Given the description of an element on the screen output the (x, y) to click on. 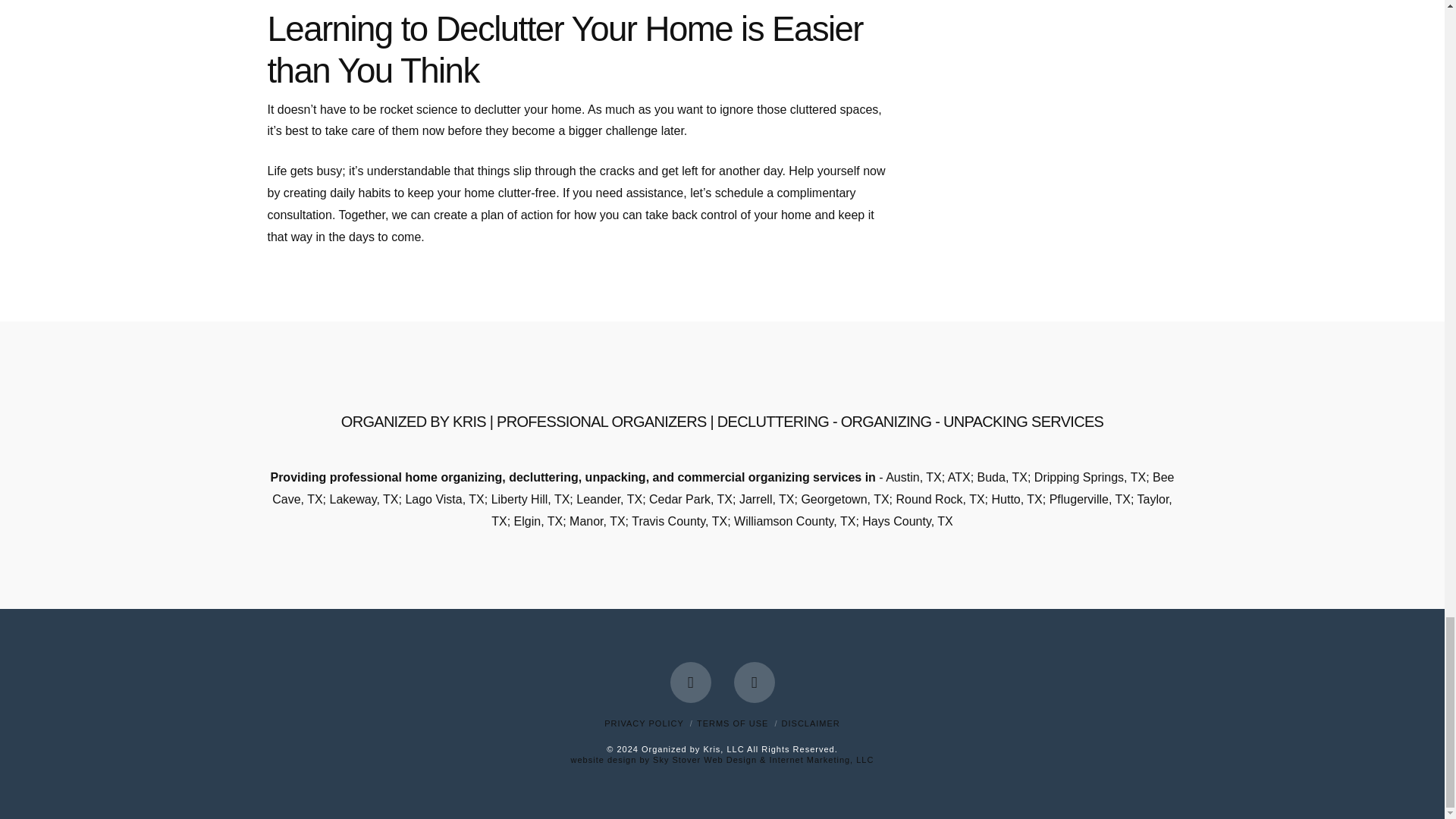
Instagram (753, 681)
Sky Stover Website Design (722, 759)
Facebook (690, 681)
